Given the description of an element on the screen output the (x, y) to click on. 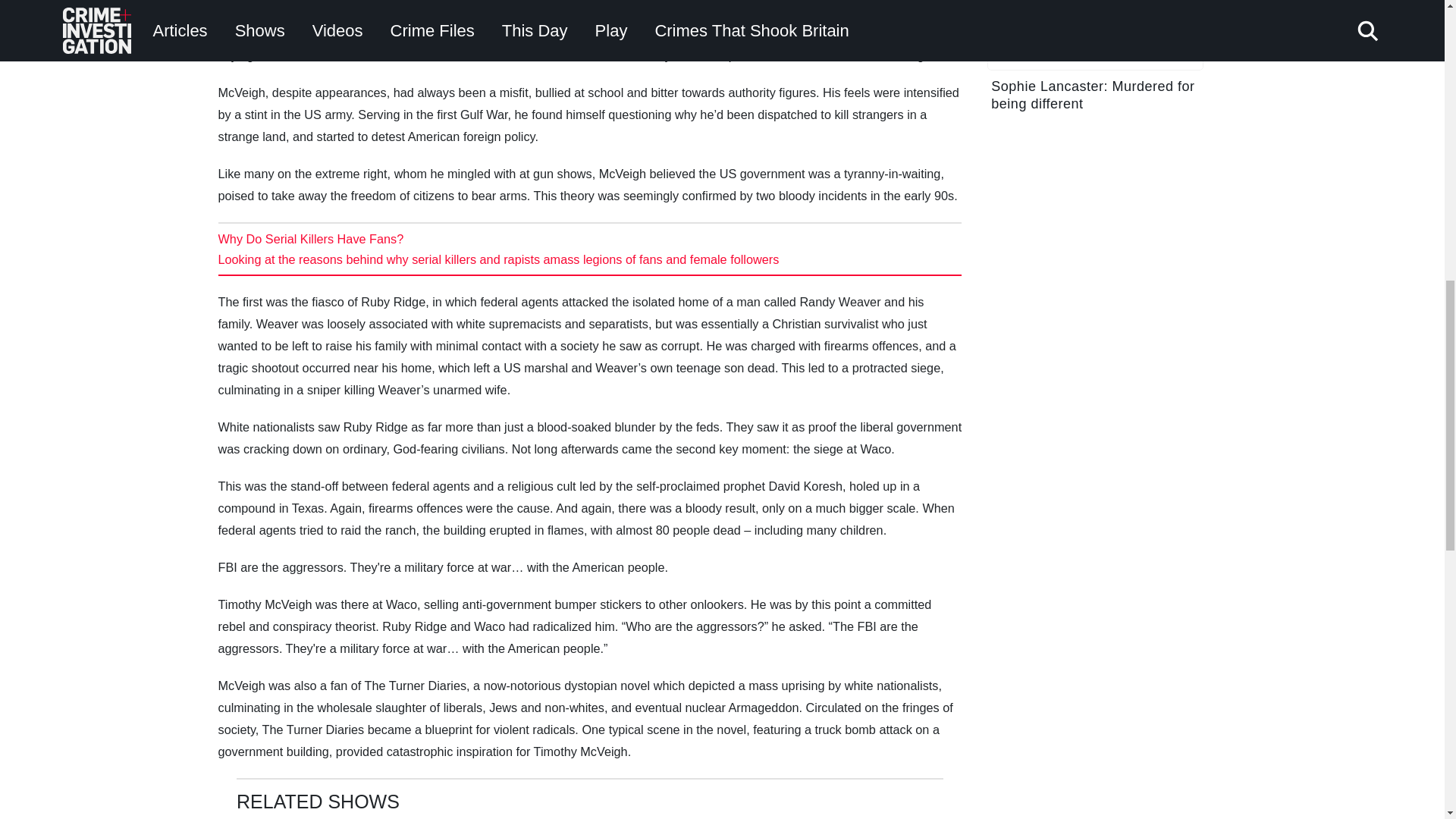
Why Do Serial Killers Have Fans? (311, 238)
Sophie Lancaster: Murdered for being different (1095, 63)
